Given the description of an element on the screen output the (x, y) to click on. 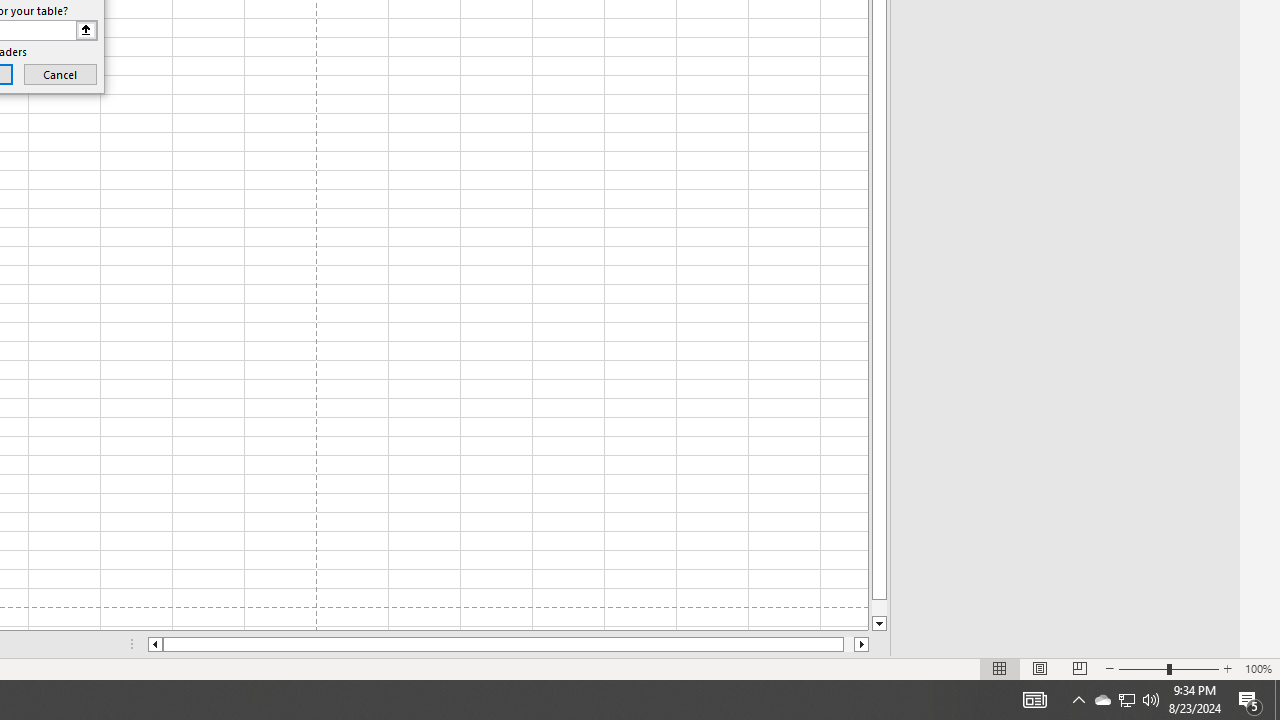
Page down (879, 607)
Page right (848, 644)
